Given the description of an element on the screen output the (x, y) to click on. 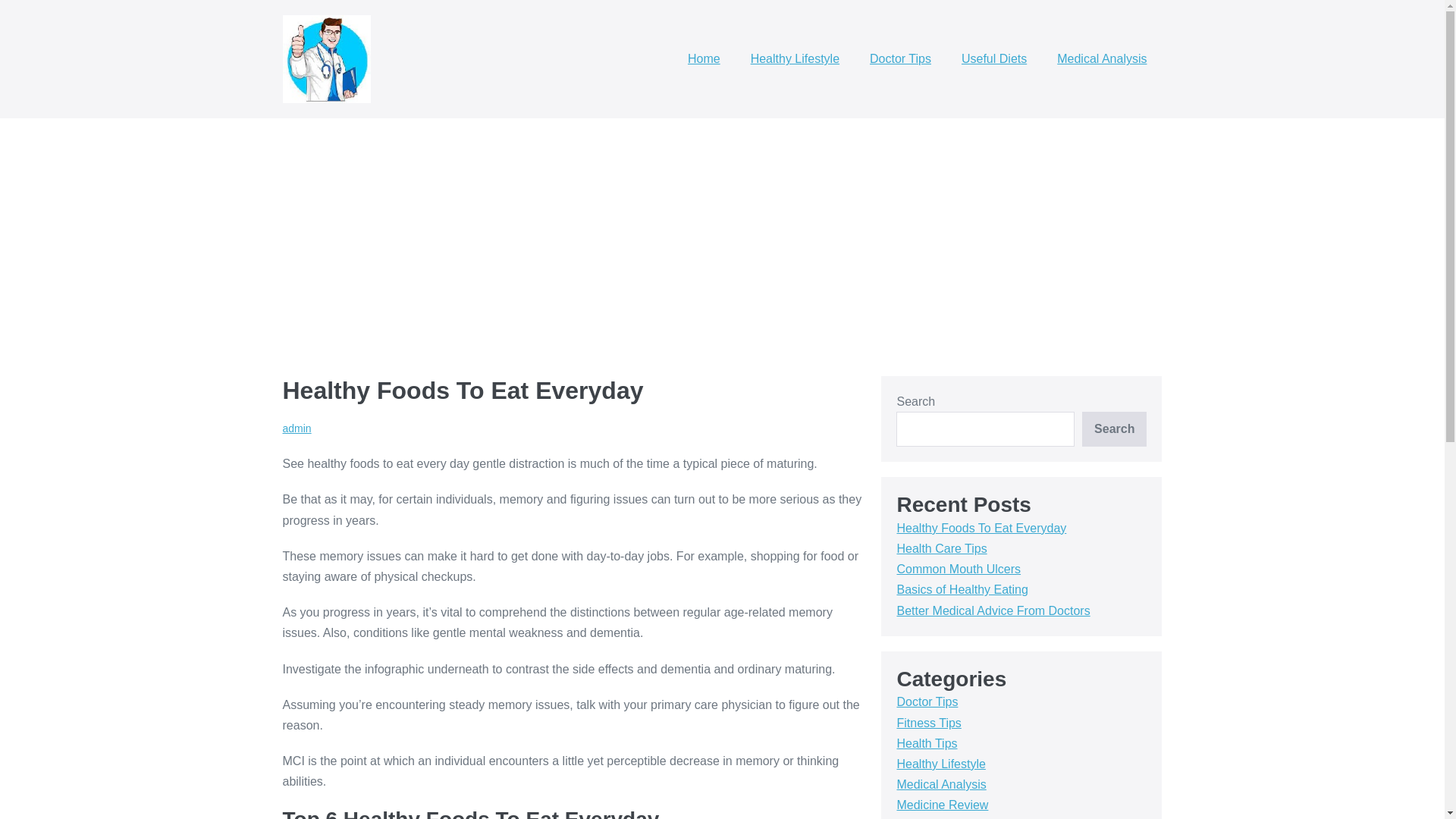
Health Tips (926, 743)
View all posts by admin (296, 428)
Medical Analysis (1101, 58)
Drhint Healthy Lifestyle (325, 59)
Doctor Tips (927, 701)
Home (703, 58)
Health Care Tips (941, 548)
Better Medical Advice From Doctors (992, 610)
Common Mouth Ulcers (958, 568)
Doctor Tips (900, 58)
Search (1114, 428)
Useful Diets (994, 58)
Healthy Foods To Eat Everyday (980, 527)
Basics of Healthy Eating (961, 589)
Healthy Lifestyle (794, 58)
